Given the description of an element on the screen output the (x, y) to click on. 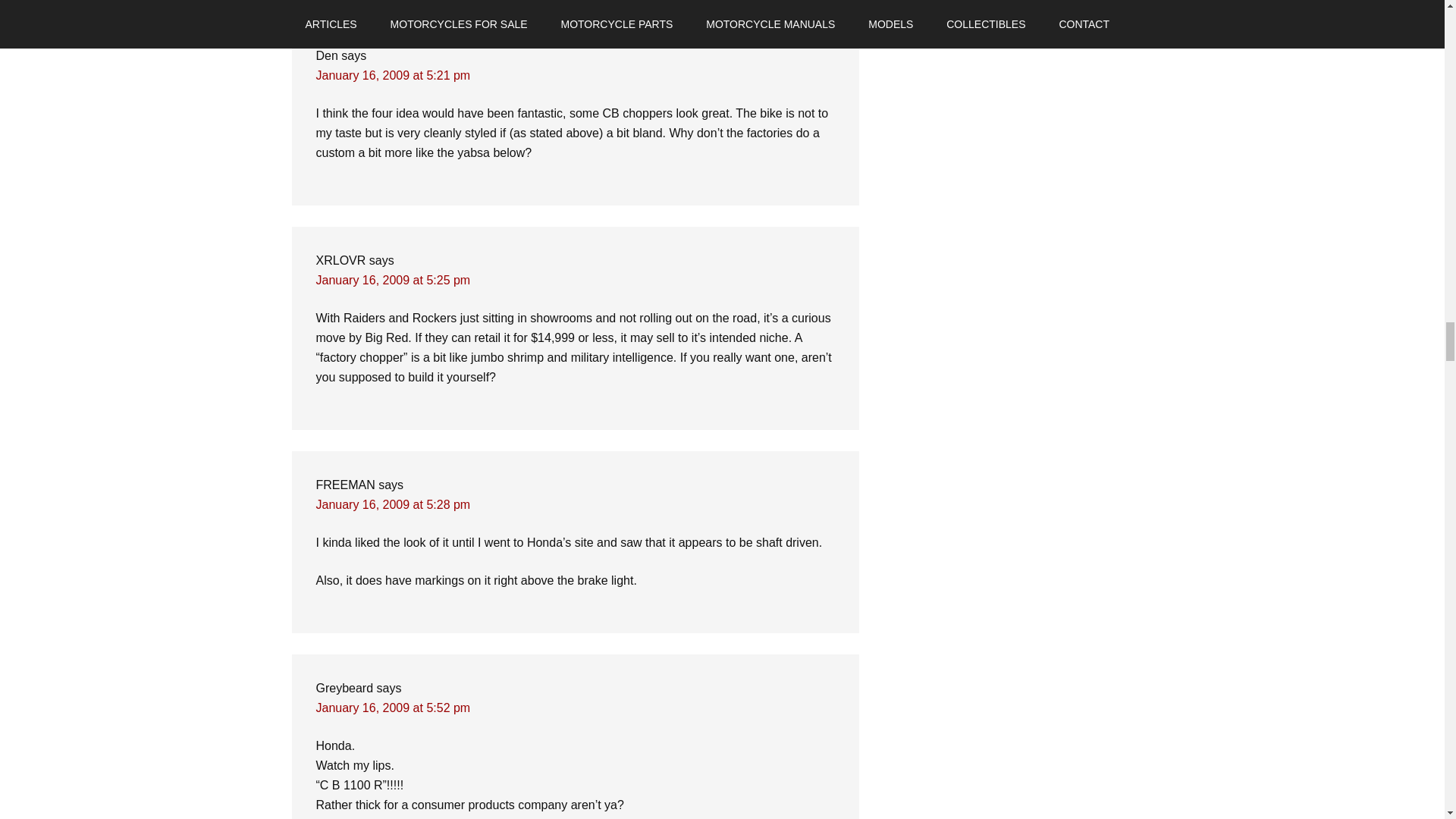
January 16, 2009 at 5:21 pm (392, 74)
